Given the description of an element on the screen output the (x, y) to click on. 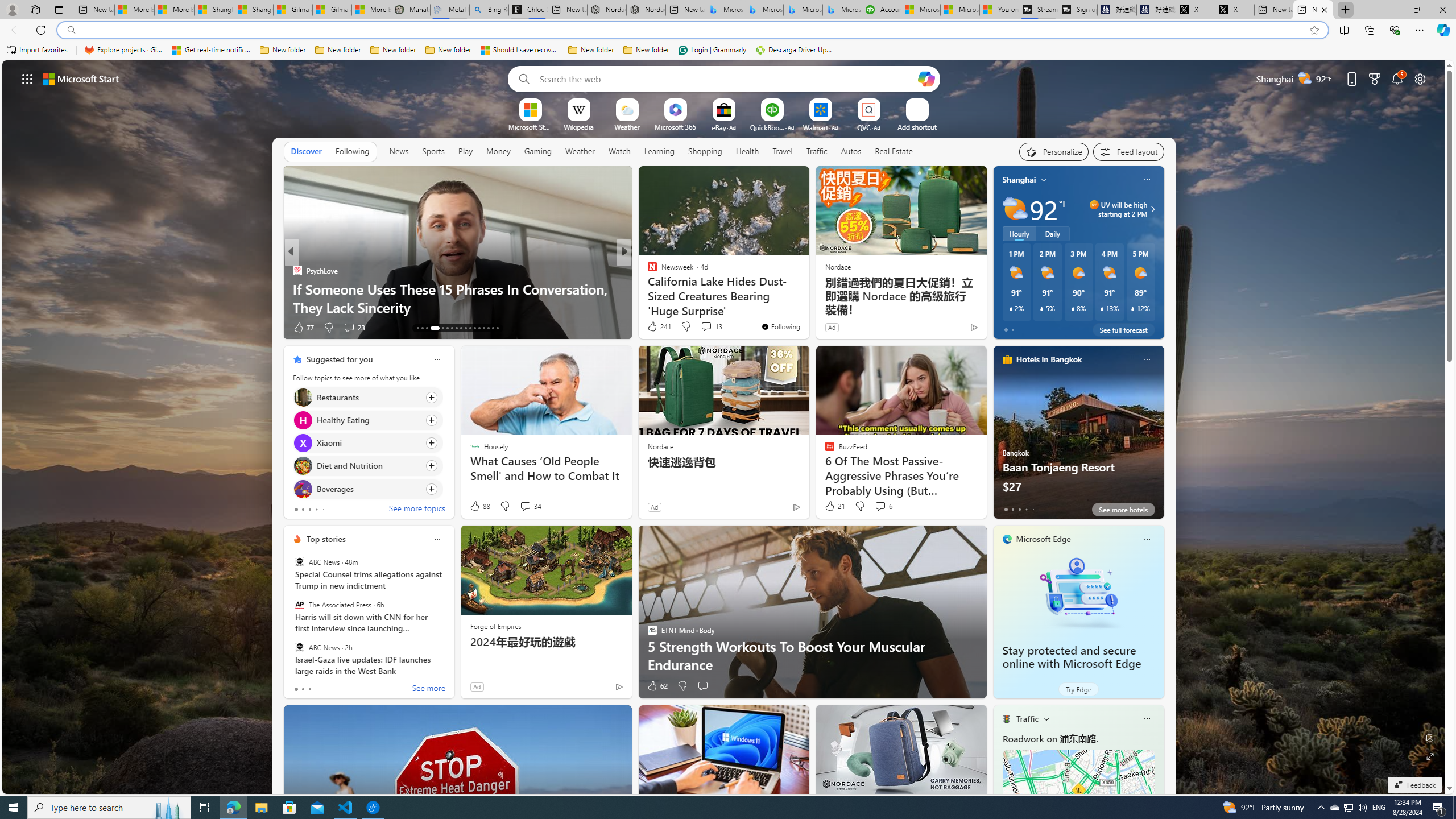
The Associated Press (299, 604)
AutomationID: tab-22 (465, 328)
View comments 13 Comment (710, 326)
955 Like (654, 327)
